Given the description of an element on the screen output the (x, y) to click on. 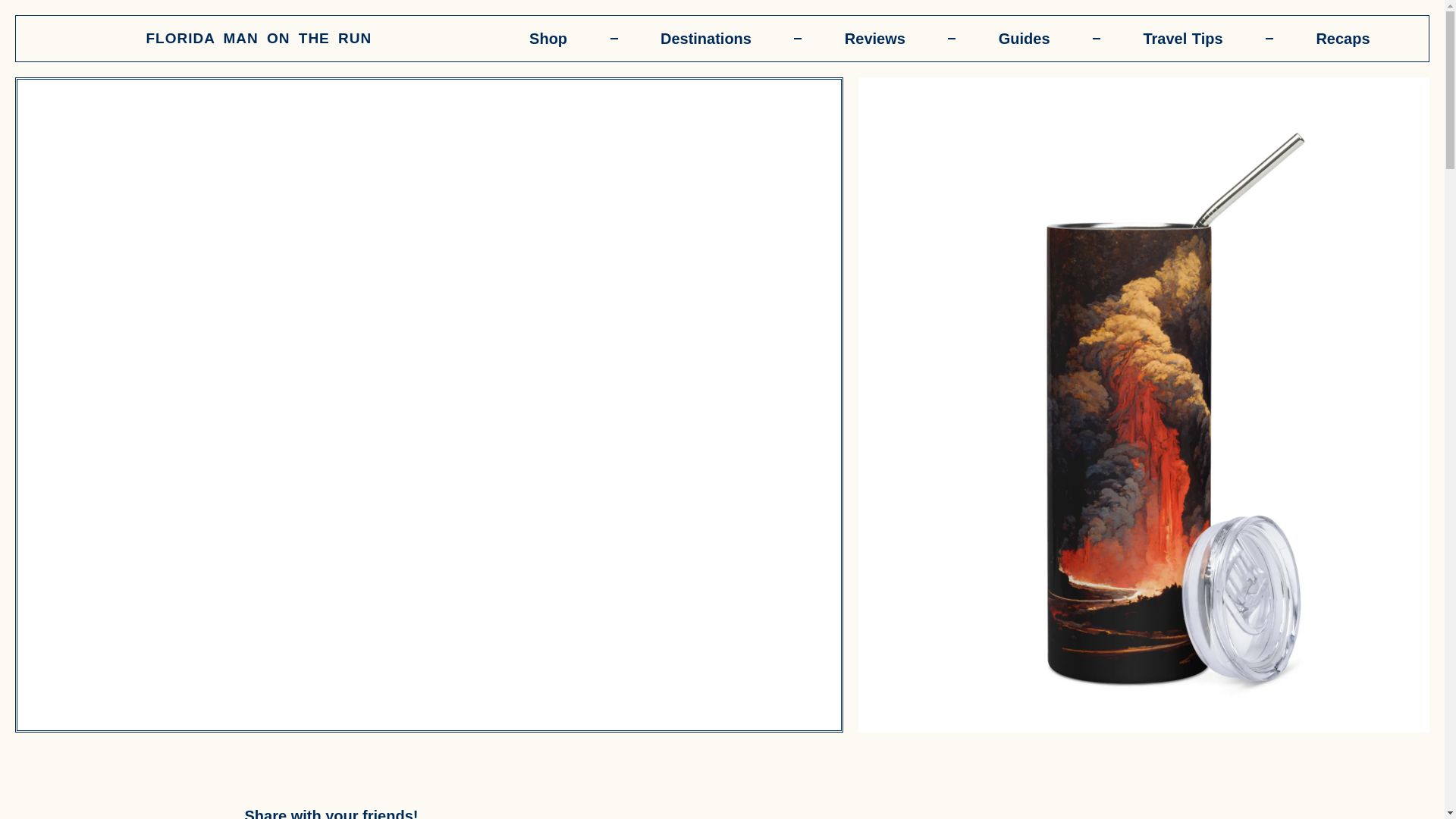
Guides (1024, 38)
Destinations (705, 38)
Travel Tips (1182, 38)
Shop (548, 38)
Recaps (1342, 38)
Reviews (874, 38)
FLORIDA MAN ON THE RUN (258, 37)
